Given the description of an element on the screen output the (x, y) to click on. 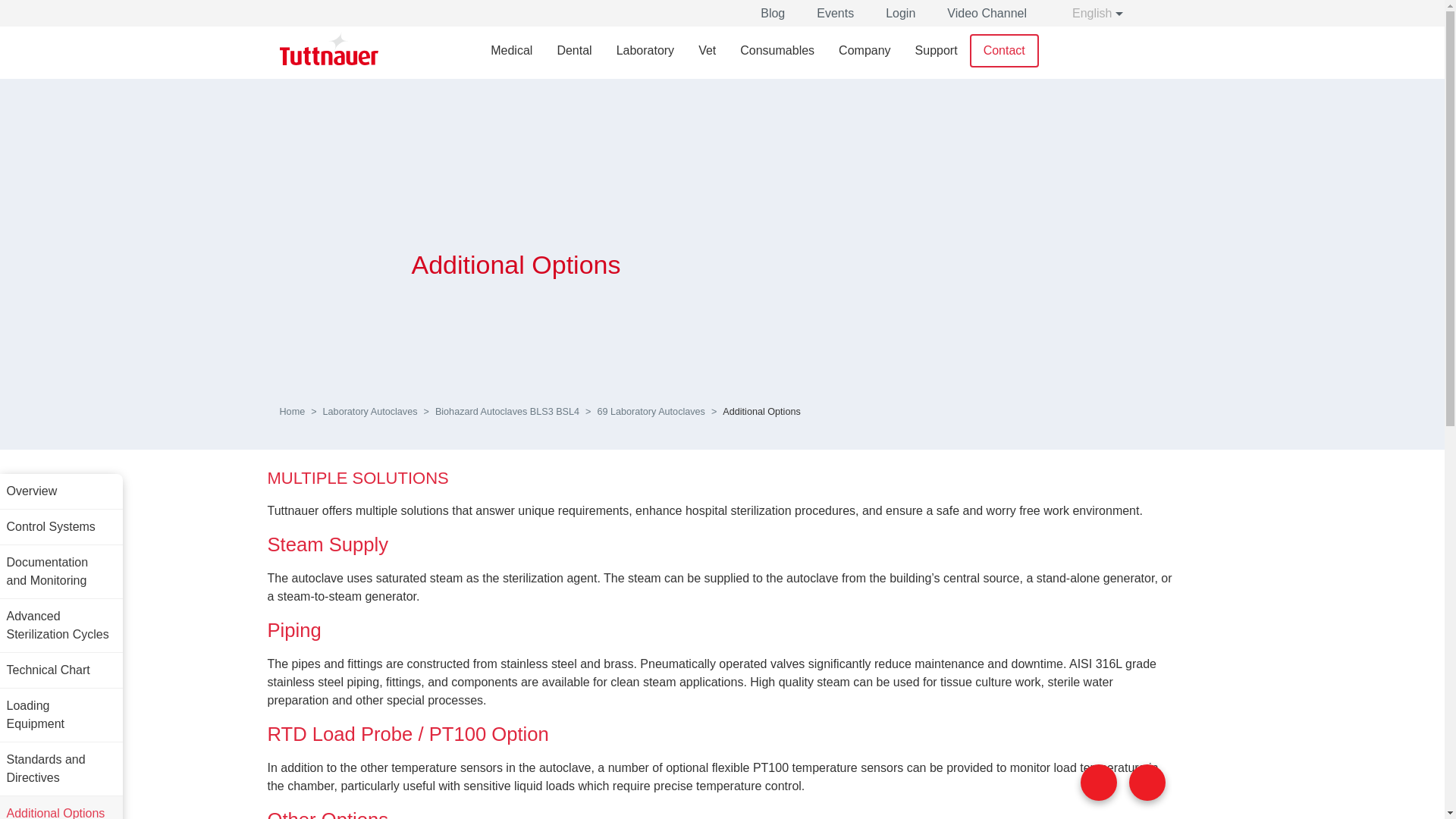
Laboratory (645, 51)
Support (935, 51)
Autoclaves for Dental and Private Clinics (574, 51)
Company (864, 51)
Video Channel (986, 13)
Login (900, 13)
Consumables (777, 51)
Laboratory Autoclaves for Life Science Research (645, 51)
Medical (511, 51)
Dental (574, 51)
